Given the description of an element on the screen output the (x, y) to click on. 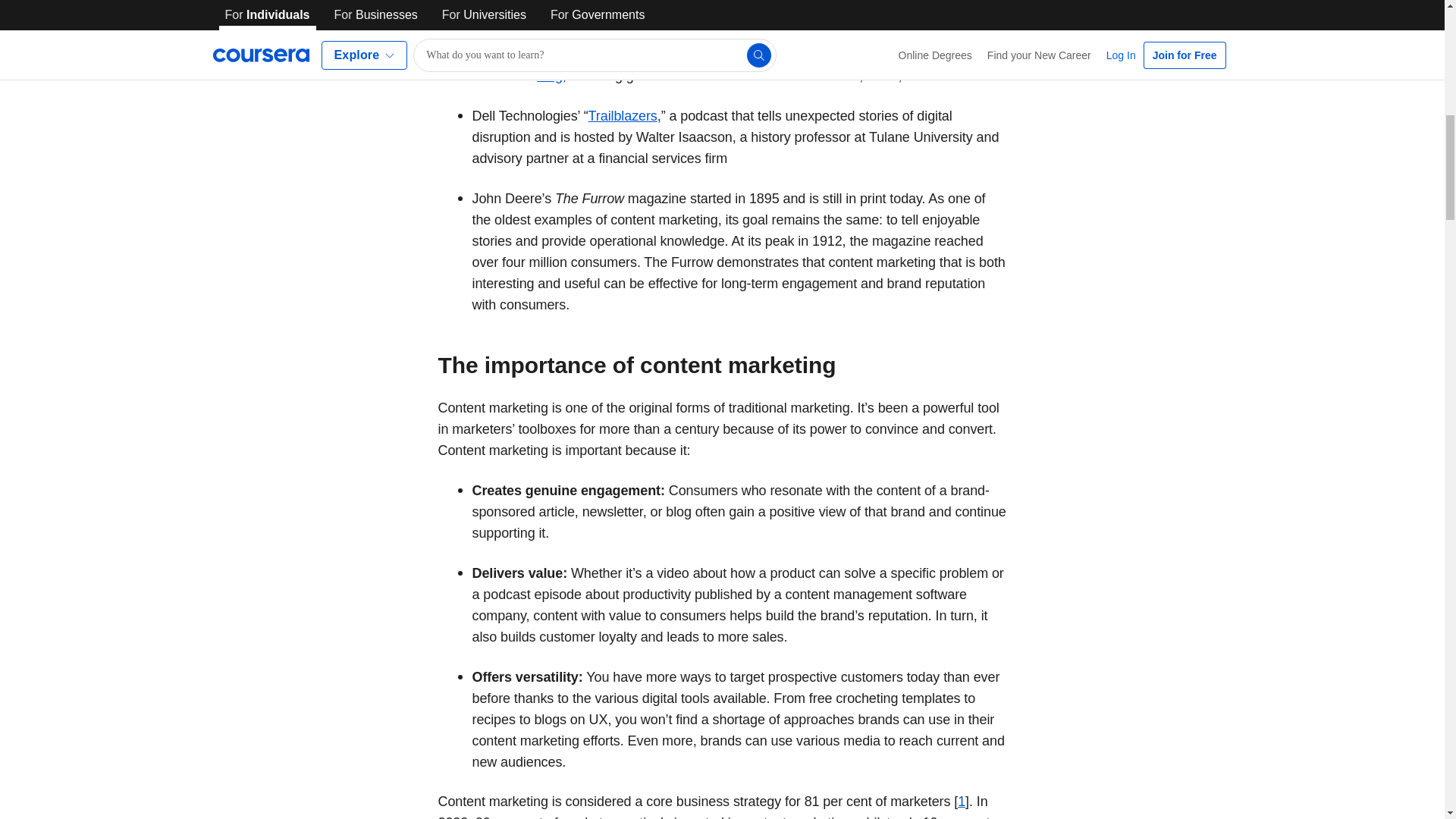
Trailblazers (623, 115)
blog (549, 75)
